Given the description of an element on the screen output the (x, y) to click on. 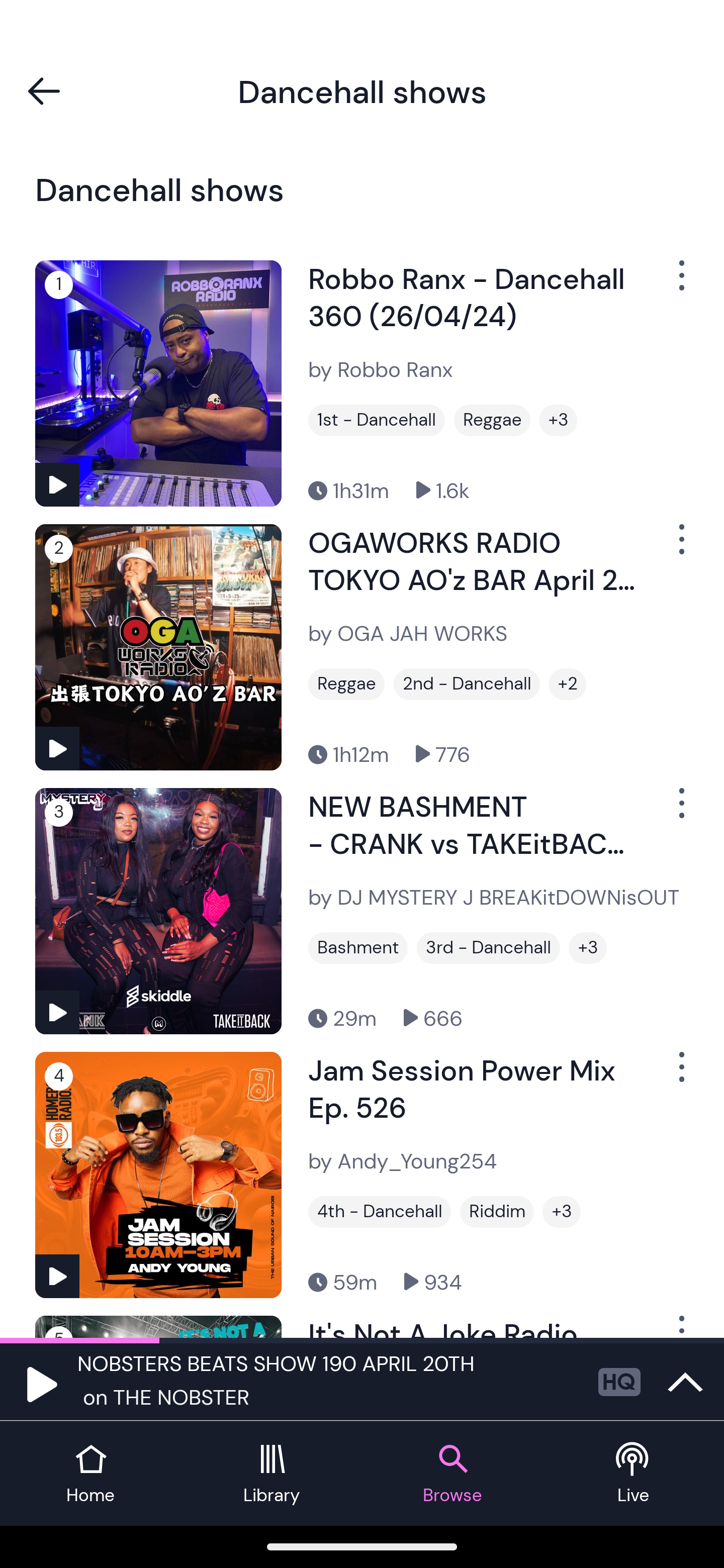
Show Options Menu Button (679, 282)
1st - Dancehall (376, 419)
Reggae (491, 419)
Show Options Menu Button (679, 546)
Reggae (346, 683)
2nd - Dancehall (466, 683)
Show Options Menu Button (679, 811)
Bashment (357, 948)
3rd - Dancehall (488, 948)
Show Options Menu Button (679, 1074)
4th - Dancehall (379, 1211)
Riddim (496, 1211)
Home tab Home (90, 1473)
Library tab Library (271, 1473)
Browse tab Browse (452, 1473)
Live tab Live (633, 1473)
